Given the description of an element on the screen output the (x, y) to click on. 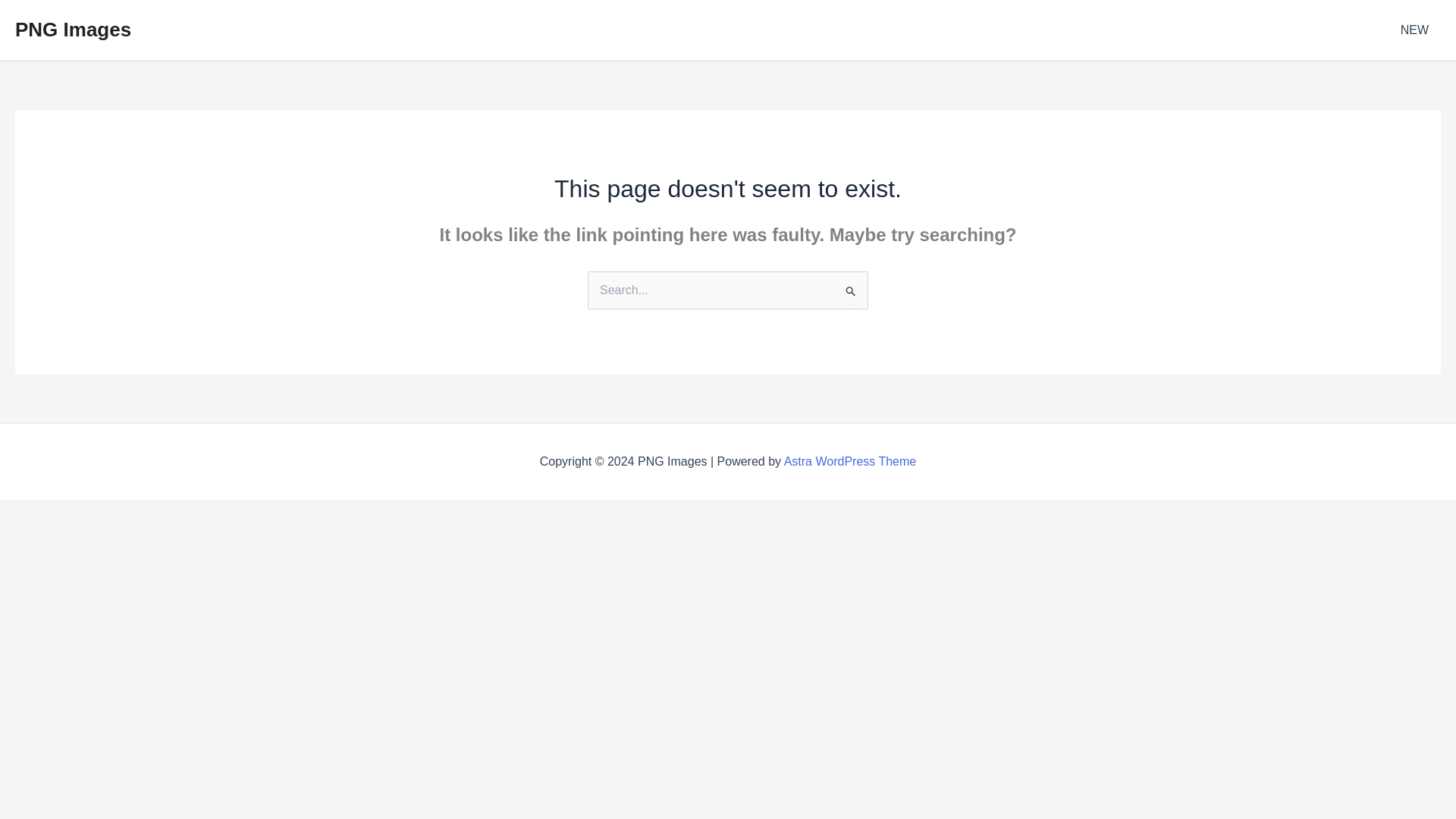
Astra WordPress Theme (850, 461)
PNG Images (72, 29)
